Given the description of an element on the screen output the (x, y) to click on. 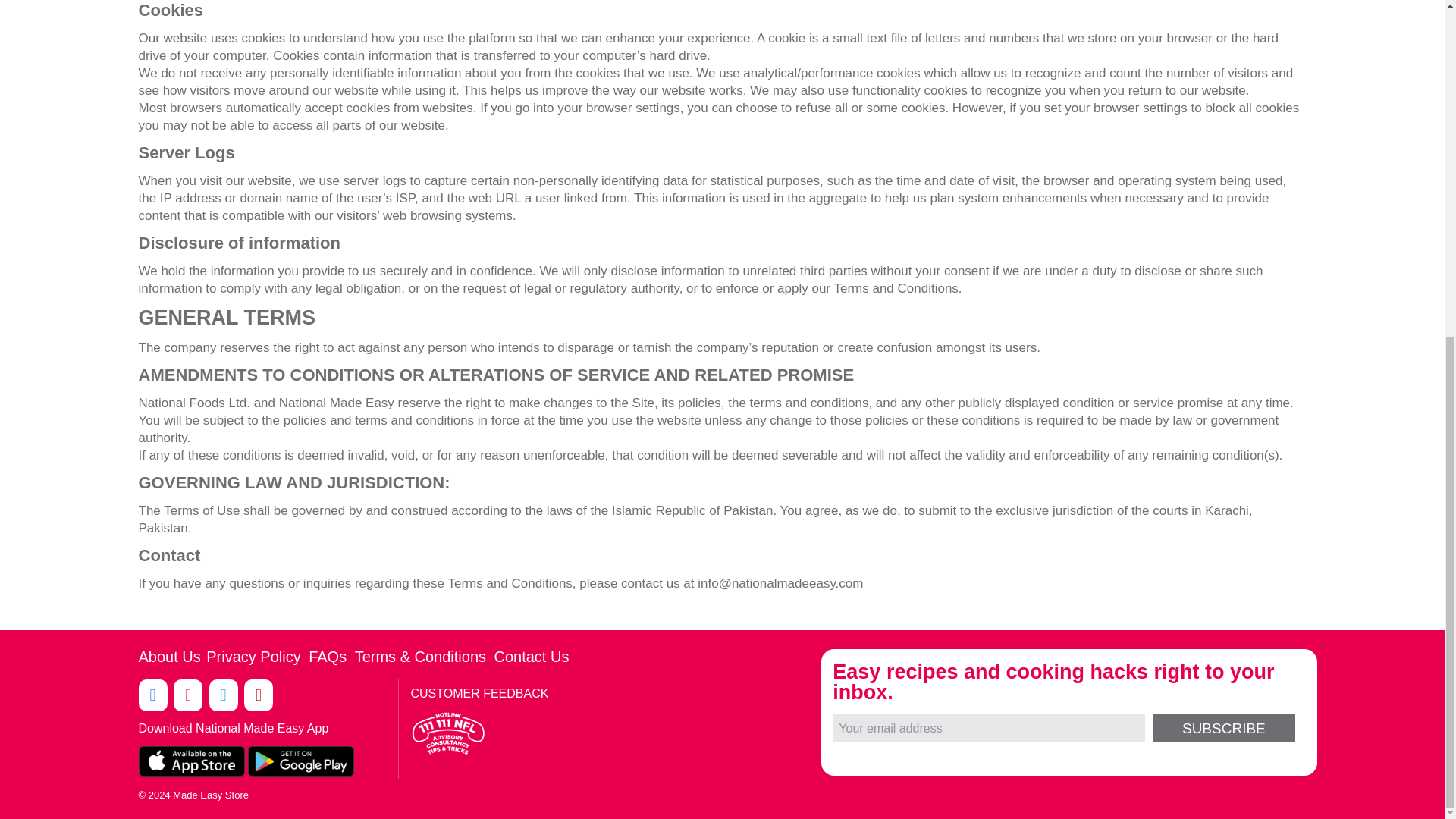
Subscribe (1223, 728)
